Given the description of an element on the screen output the (x, y) to click on. 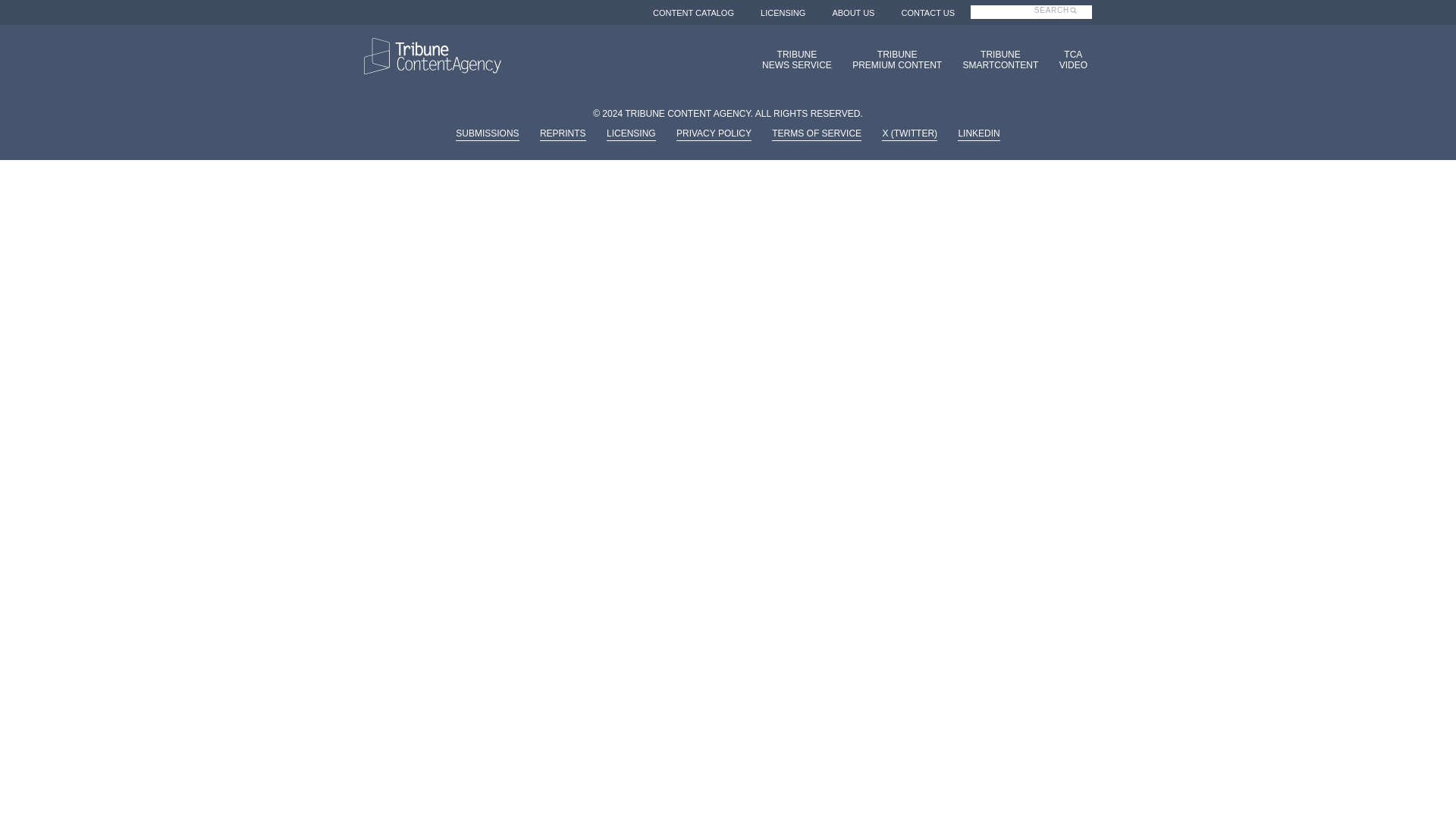
Search (892, 59)
CONTENT CATALOG (996, 59)
LICENSING (1068, 59)
Search (1066, 18)
ABOUT US (693, 12)
CONTACT US (791, 59)
